Given the description of an element on the screen output the (x, y) to click on. 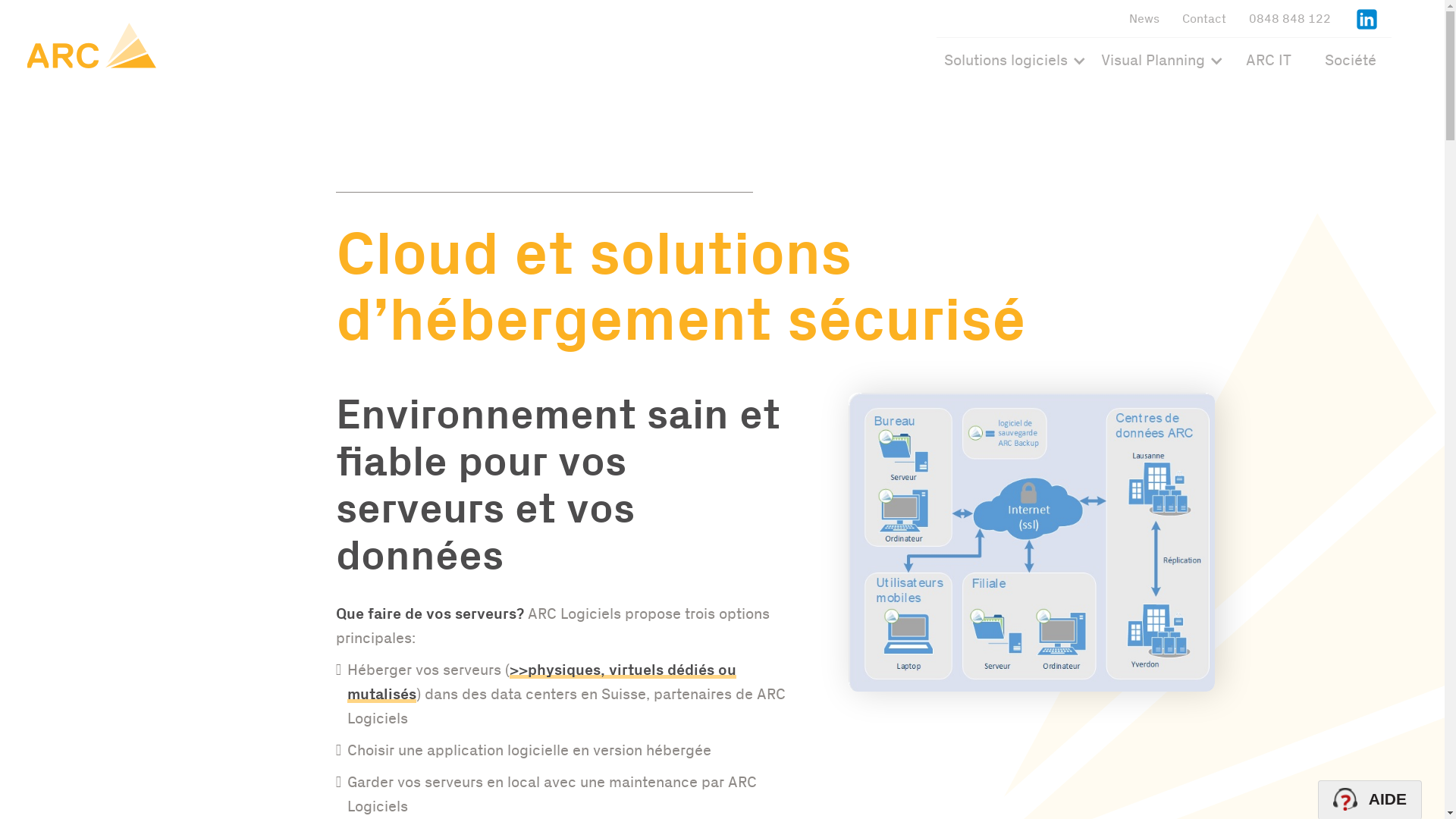
News Element type: text (1143, 18)
Visual Planning Element type: text (1152, 62)
Solutions logiciels Element type: text (1005, 62)
ARC IT Element type: text (1268, 60)
0848 848 122 Element type: text (1289, 18)
Contact Element type: text (1203, 18)
